Given the description of an element on the screen output the (x, y) to click on. 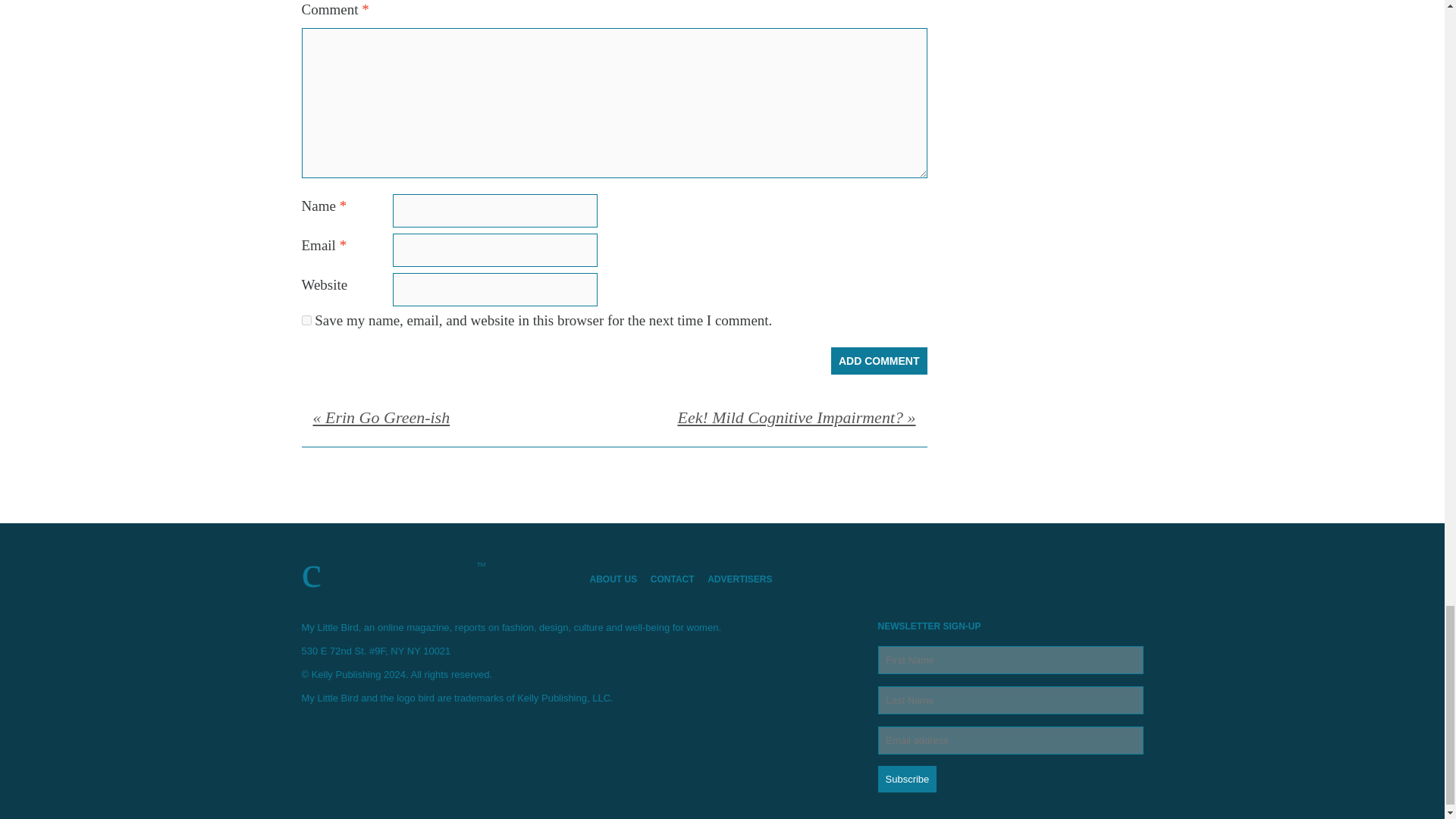
ABOUT US (618, 579)
yes (306, 320)
Add Comment (879, 360)
Subscribe (907, 778)
Add Comment (879, 360)
ADVERTISERS (745, 579)
NEWSLETTER SIGN-UP (1009, 706)
TM (434, 571)
Subscribe (907, 778)
CONTACT (677, 579)
